Given the description of an element on the screen output the (x, y) to click on. 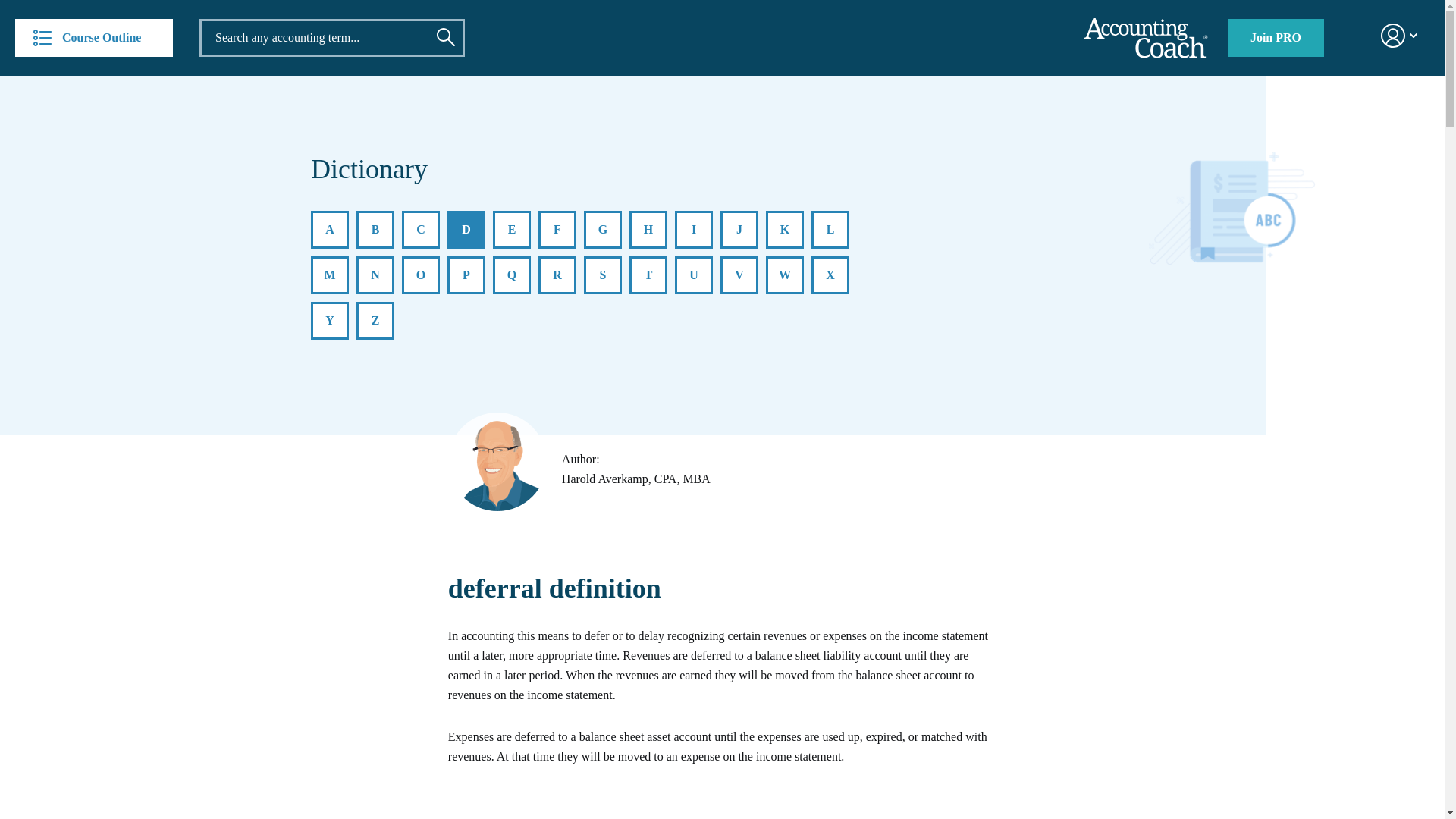
M (330, 275)
B (375, 229)
H (647, 229)
O (420, 275)
J (739, 229)
AccountingCoach (1145, 38)
F (557, 229)
V (739, 275)
D (465, 229)
E (512, 229)
